Given the description of an element on the screen output the (x, y) to click on. 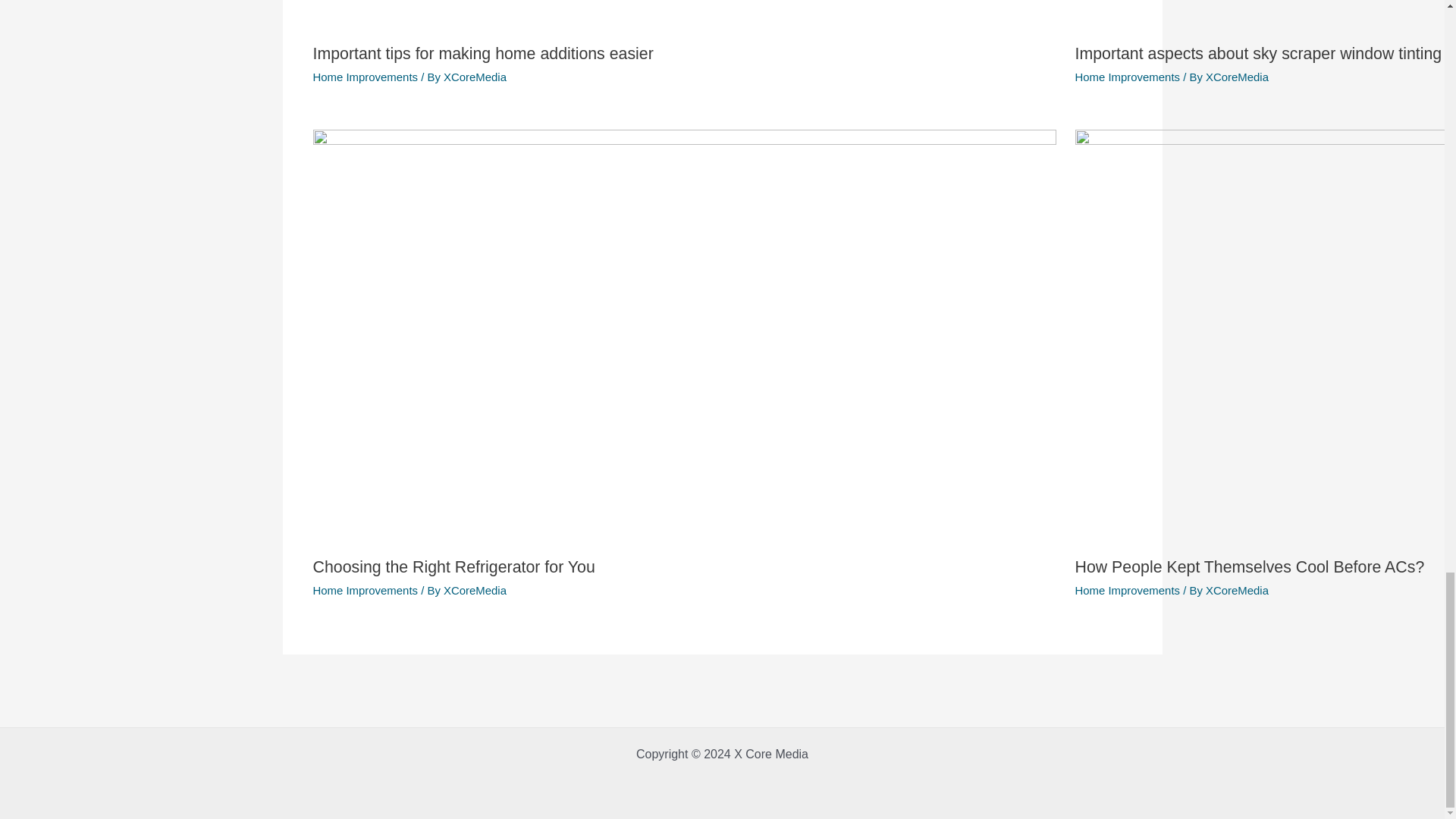
View all posts by XCoreMedia (1236, 590)
View all posts by XCoreMedia (475, 76)
View all posts by XCoreMedia (475, 590)
View all posts by XCoreMedia (1236, 76)
